Given the description of an element on the screen output the (x, y) to click on. 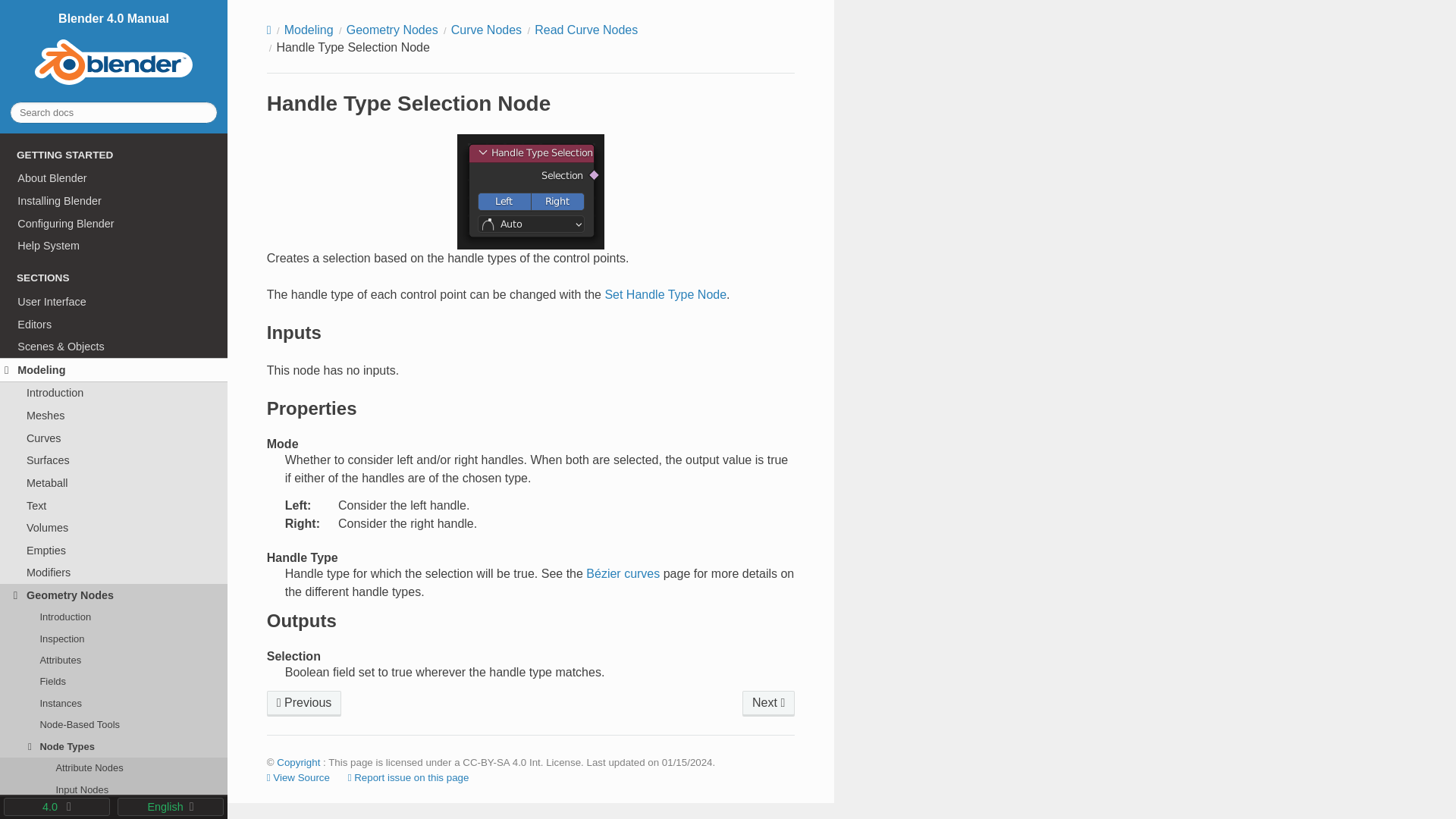
Meshes (113, 415)
Empties (113, 549)
Metaball (113, 482)
About Blender (113, 178)
Introduction (113, 617)
Configuring Blender (113, 223)
Input Nodes (113, 789)
Instances (113, 703)
Geometry Nodes (113, 594)
Help System (113, 245)
